Given the description of an element on the screen output the (x, y) to click on. 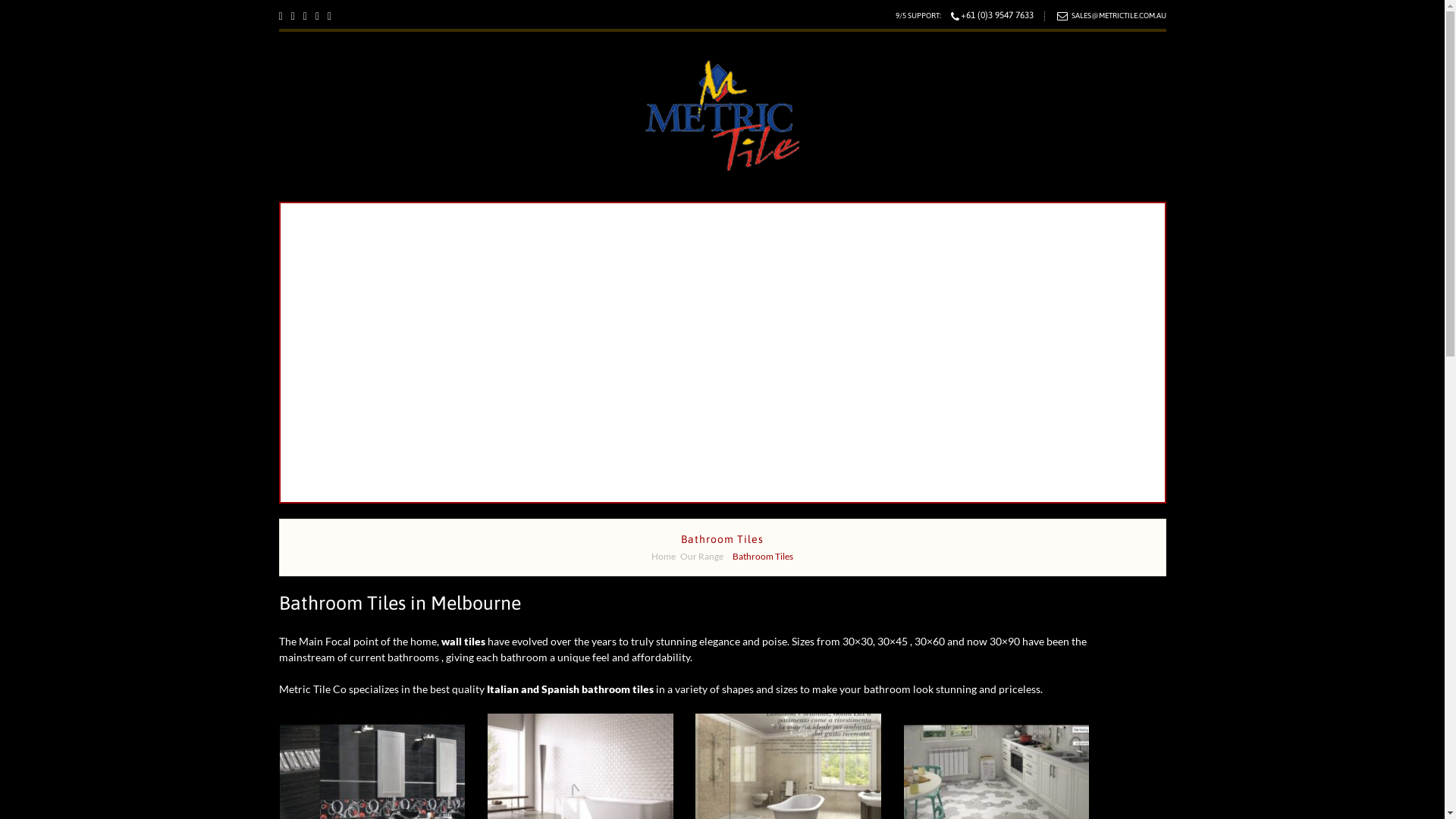
google Element type: hover (280, 16)
twitter Element type: hover (292, 16)
Our Range Element type: text (701, 555)
pinterest Element type: hover (317, 16)
Contact Us Element type: text (733, 484)
Discontinued Tiles Element type: text (834, 212)
Bathroom Tiles Element type: text (477, 248)
Feature Tiles Element type: text (477, 276)
BLANCO MATE HEX Element type: hover (996, 782)
Kitchen Tiles Melbourne Element type: text (477, 334)
Home Element type: text (354, 212)
GOTHA GOLD LUX Element type: hover (788, 782)
Porcelain Tiles Element type: text (477, 305)
linkedin Element type: hover (329, 16)
bathroom Element type: hover (371, 782)
facebook Element type: hover (305, 16)
SALES@METRICTILE.COM.AU Element type: text (1117, 15)
Clearance Tiles Element type: text (608, 212)
Tiling Tool Element type: text (717, 212)
Outdoor Tiles Element type: text (477, 363)
Pool Tiles Element type: text (477, 420)
Our Range Element type: text (468, 212)
LINEAR BIANCO Element type: hover (580, 782)
The Warehouse Element type: text (1082, 212)
Home Element type: text (663, 555)
The Showroom Element type: text (963, 212)
Sigma Tile Cutters Element type: text (477, 449)
Timber Tiles Element type: text (477, 392)
